Given the description of an element on the screen output the (x, y) to click on. 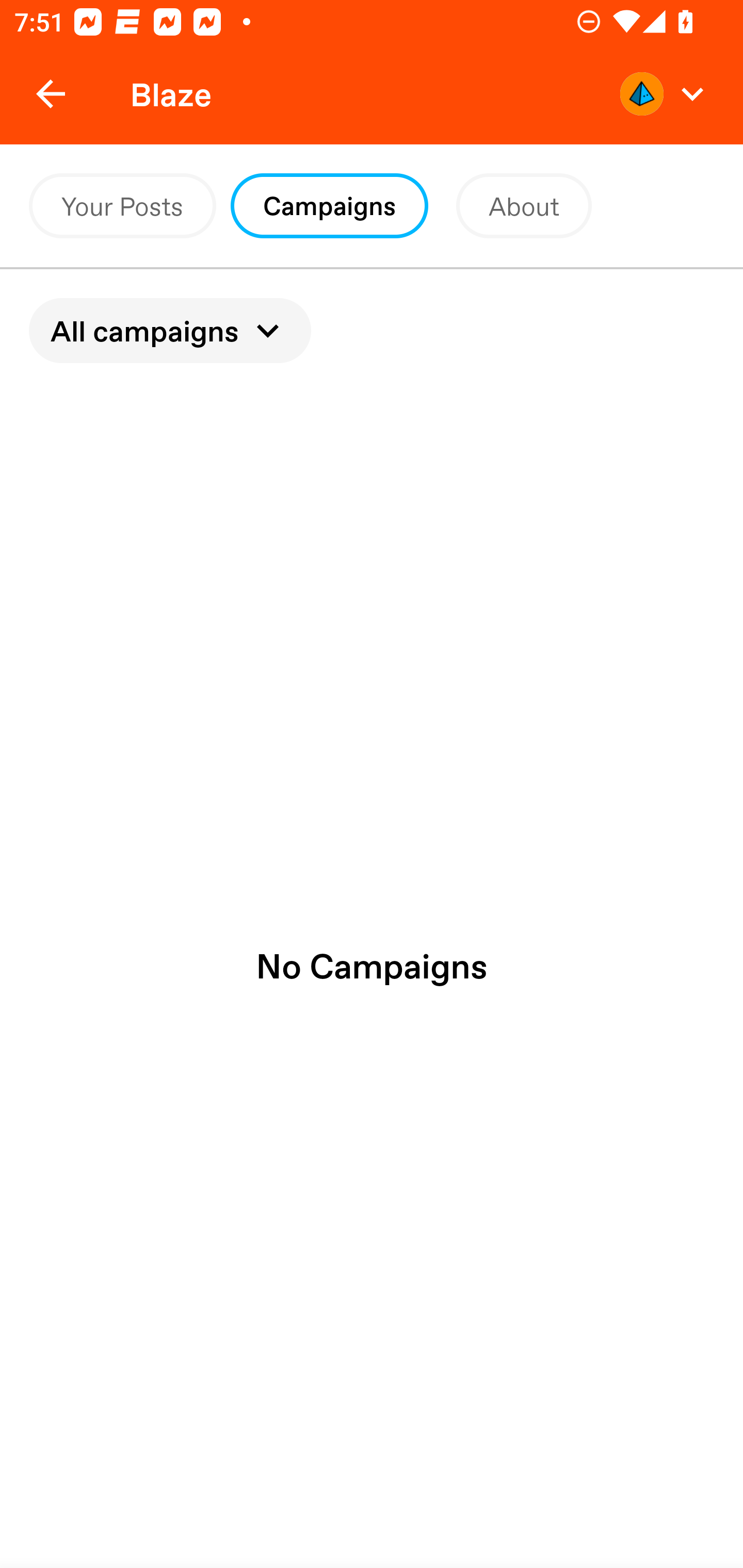
Back (50, 93)
Your Posts (122, 206)
About (523, 206)
All campaigns (169, 329)
